Given the description of an element on the screen output the (x, y) to click on. 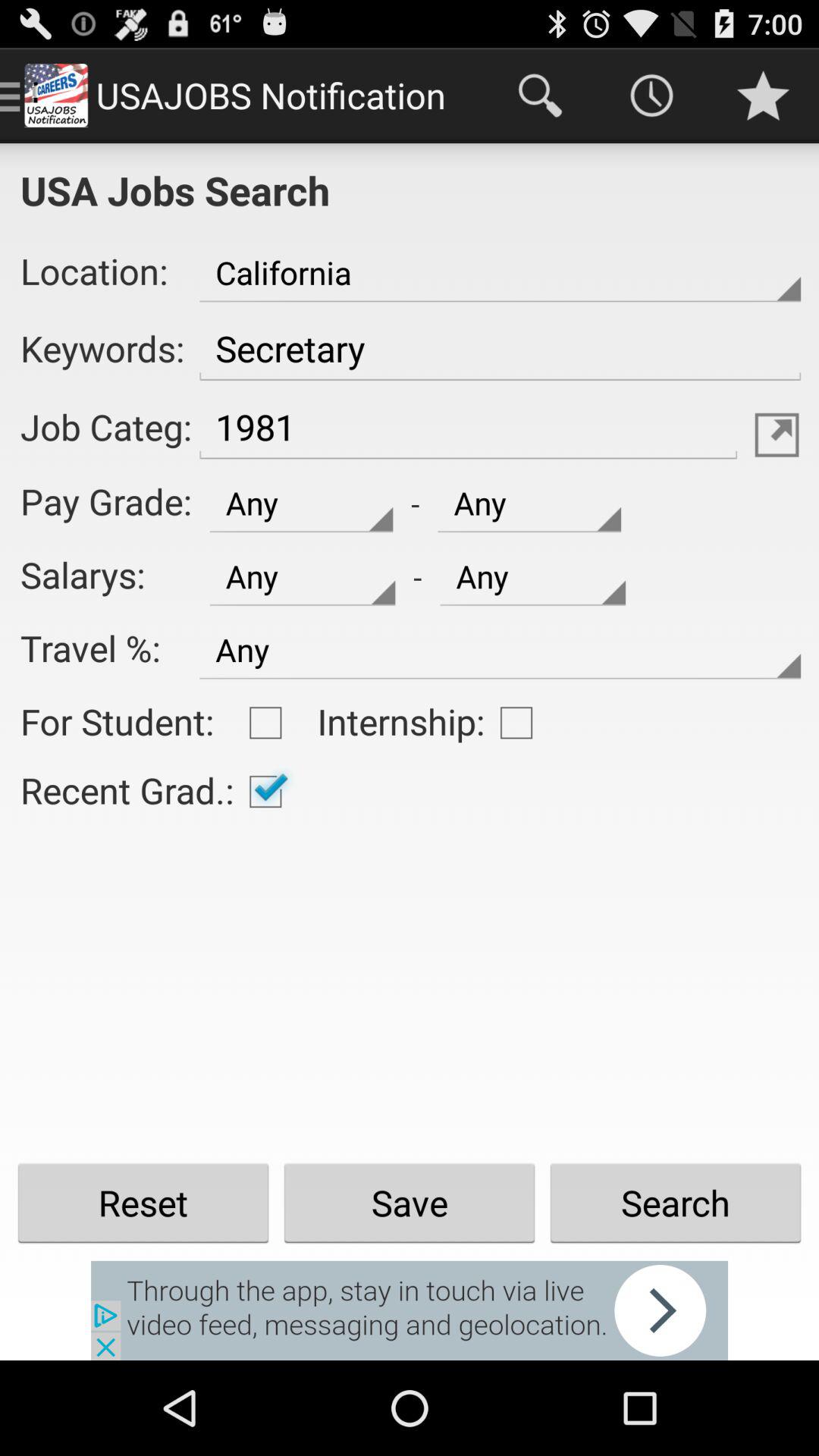
tap to say yes (265, 791)
